Given the description of an element on the screen output the (x, y) to click on. 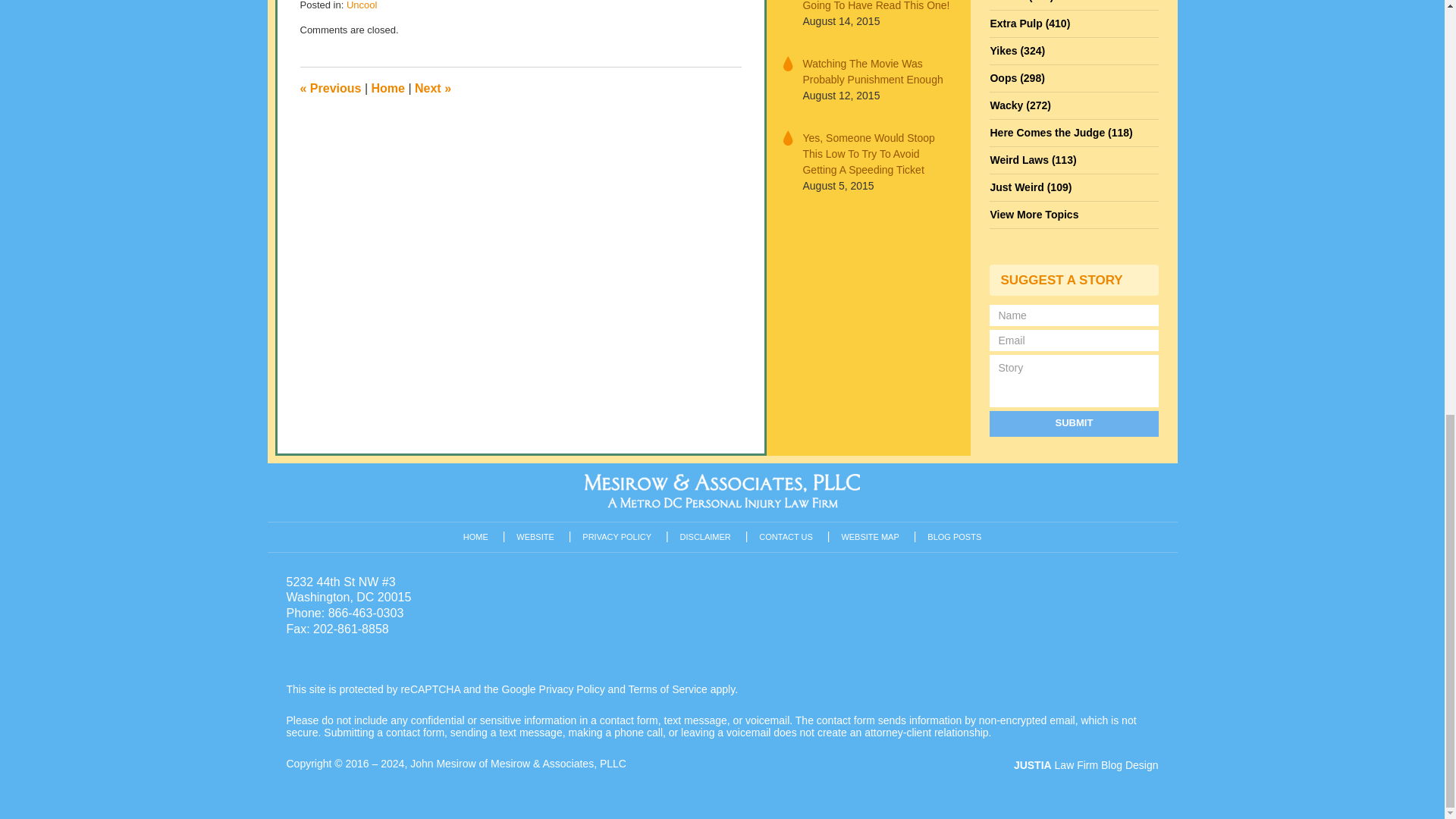
View all posts in Uncool (361, 5)
Uncool (361, 5)
Not The Best Mother-Daughter Bonding Experience (330, 88)
Home (387, 88)
Watching The Movie Was Probably Punishment Enough (877, 71)
